Given the description of an element on the screen output the (x, y) to click on. 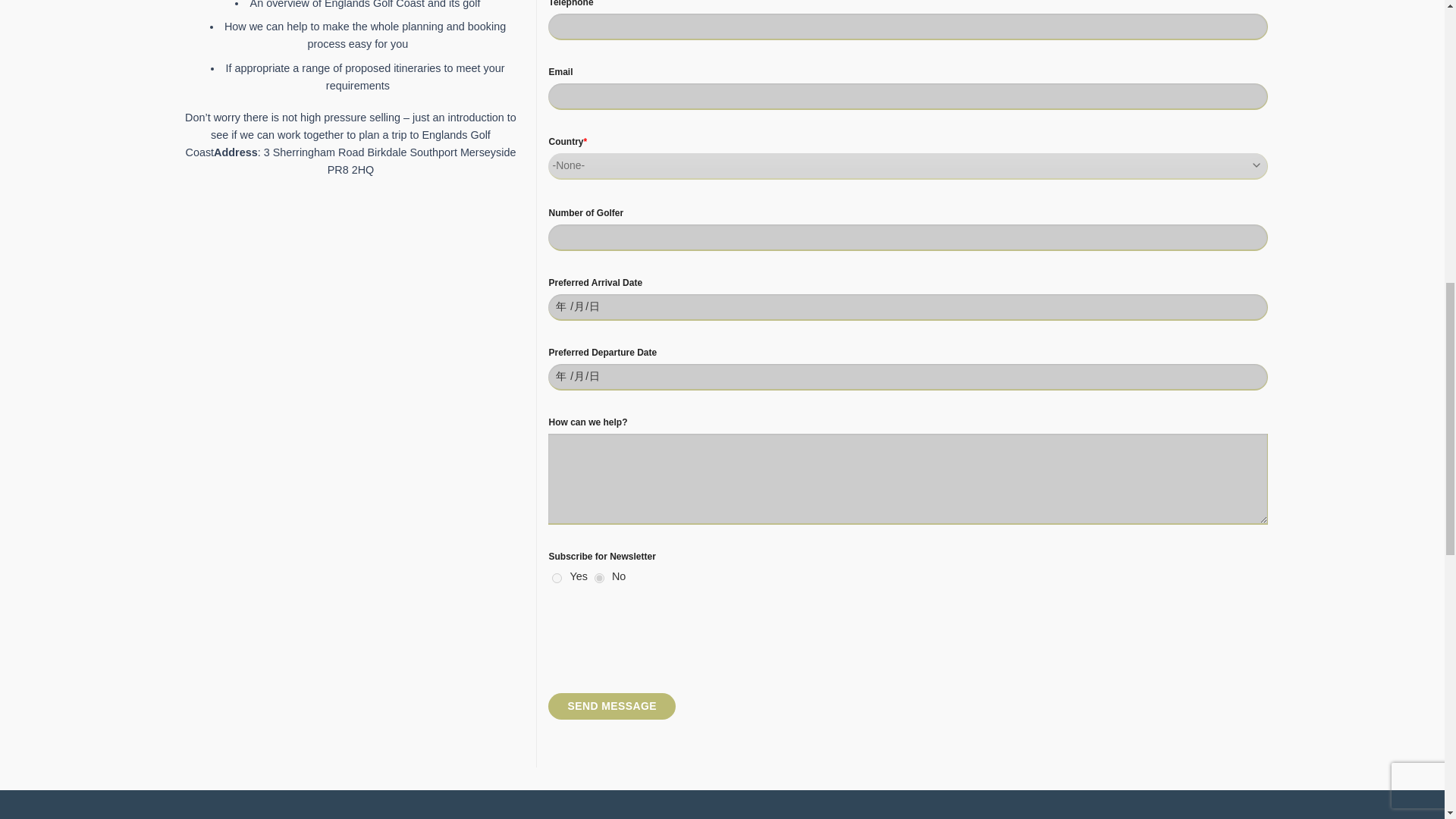
Send Message (611, 705)
No (599, 578)
Send Message (611, 705)
reCAPTCHA (663, 636)
Yes (556, 578)
Send Message (611, 705)
